Given the description of an element on the screen output the (x, y) to click on. 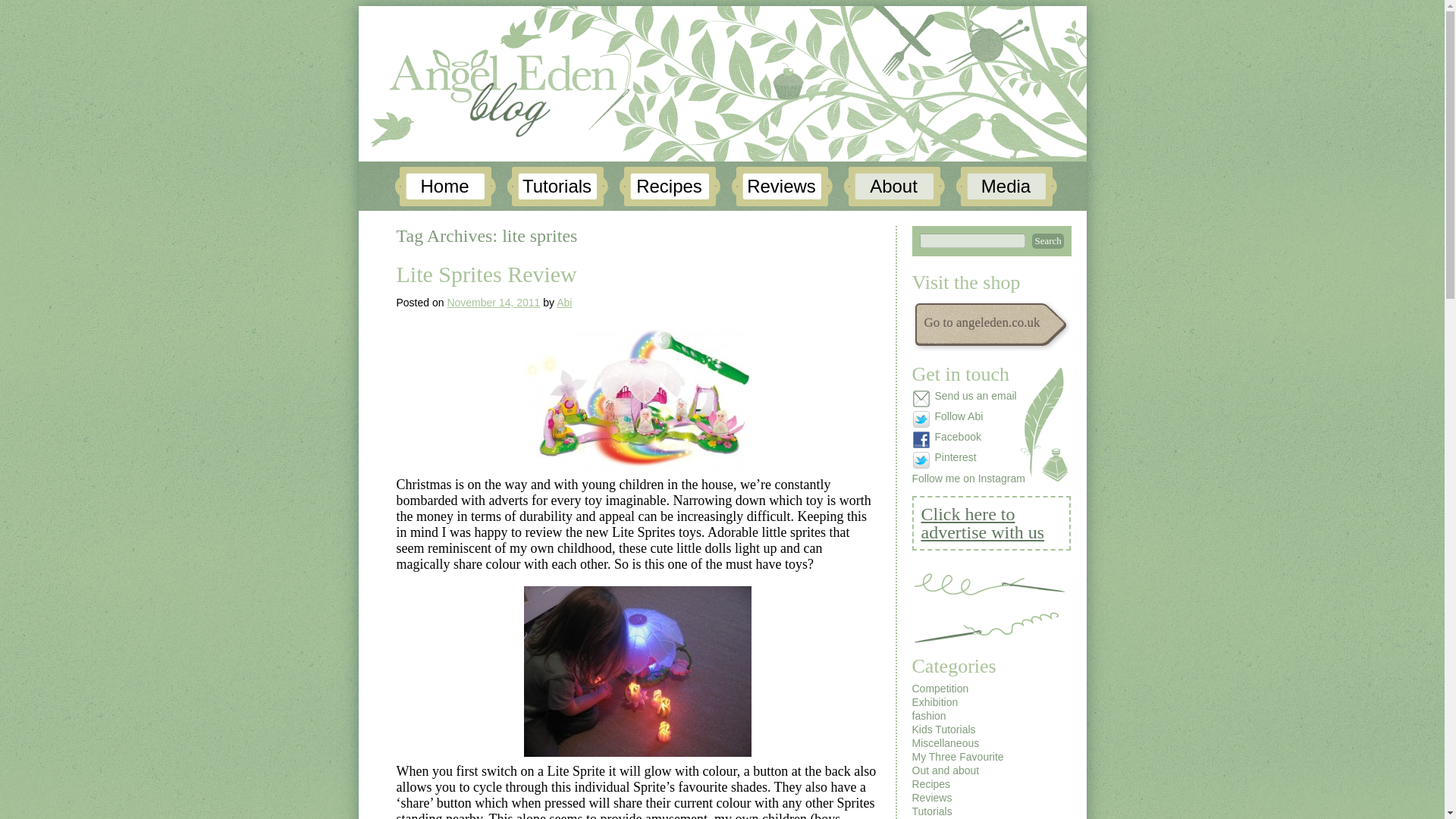
Reviews (781, 186)
Send us an email (968, 398)
About (893, 186)
View all posts by Abi (564, 302)
Follow me on Instagram (968, 478)
Go to angeleden.co.uk (1000, 327)
Search (1046, 240)
Lite Sprites Review (486, 273)
Search (1046, 240)
November 14, 2011 (493, 302)
